Given the description of an element on the screen output the (x, y) to click on. 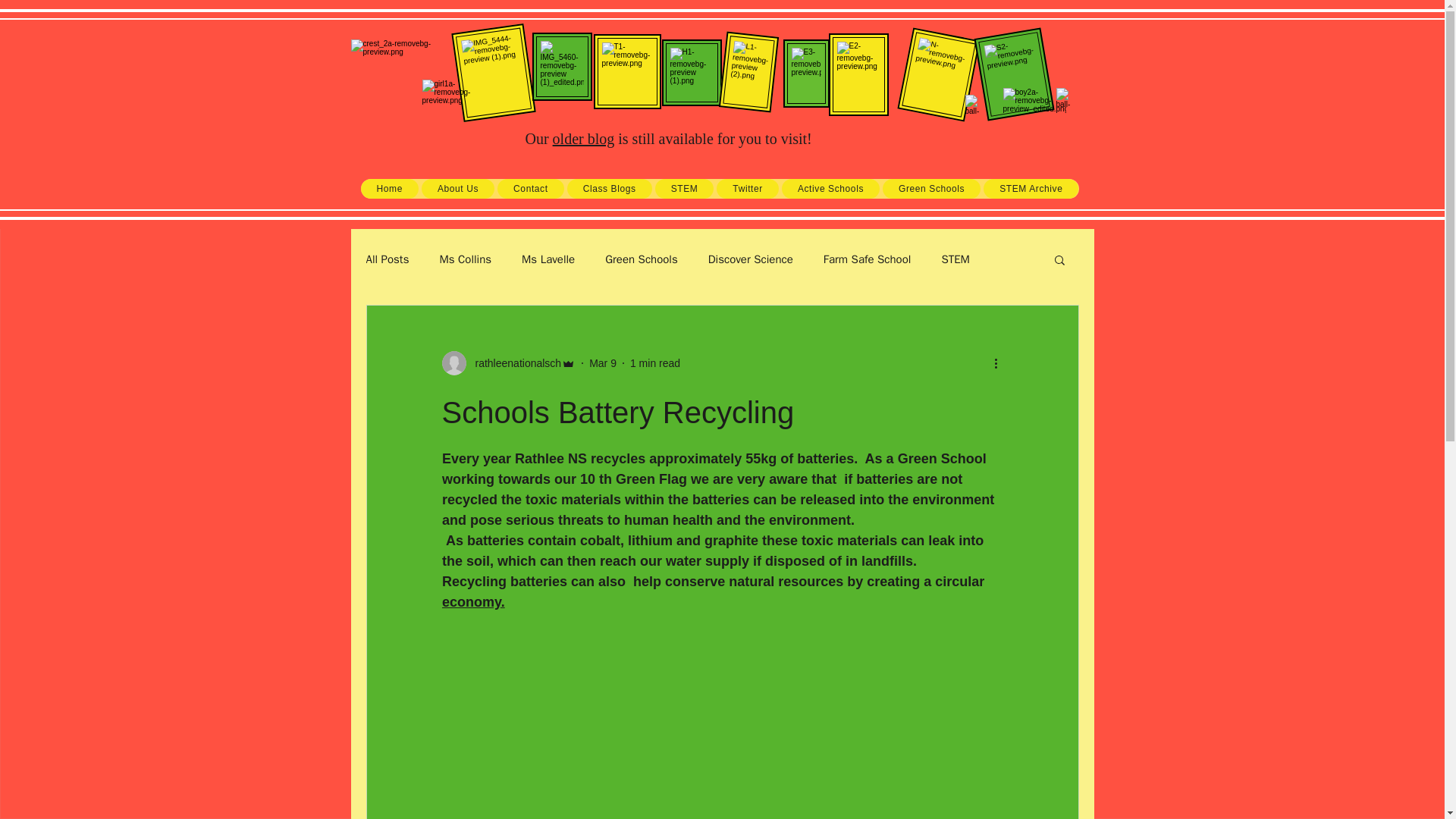
All Posts (387, 258)
rathleenationalsch (512, 362)
Contact (530, 189)
Ms Collins (465, 258)
Green Schools (930, 189)
Discover Science (750, 258)
Home (390, 189)
Ms Lavelle (548, 258)
1 min read (654, 362)
STEM (954, 258)
Twitter (747, 189)
STEM Archive (1031, 189)
Mar 9 (602, 362)
older blog (583, 138)
